Given the description of an element on the screen output the (x, y) to click on. 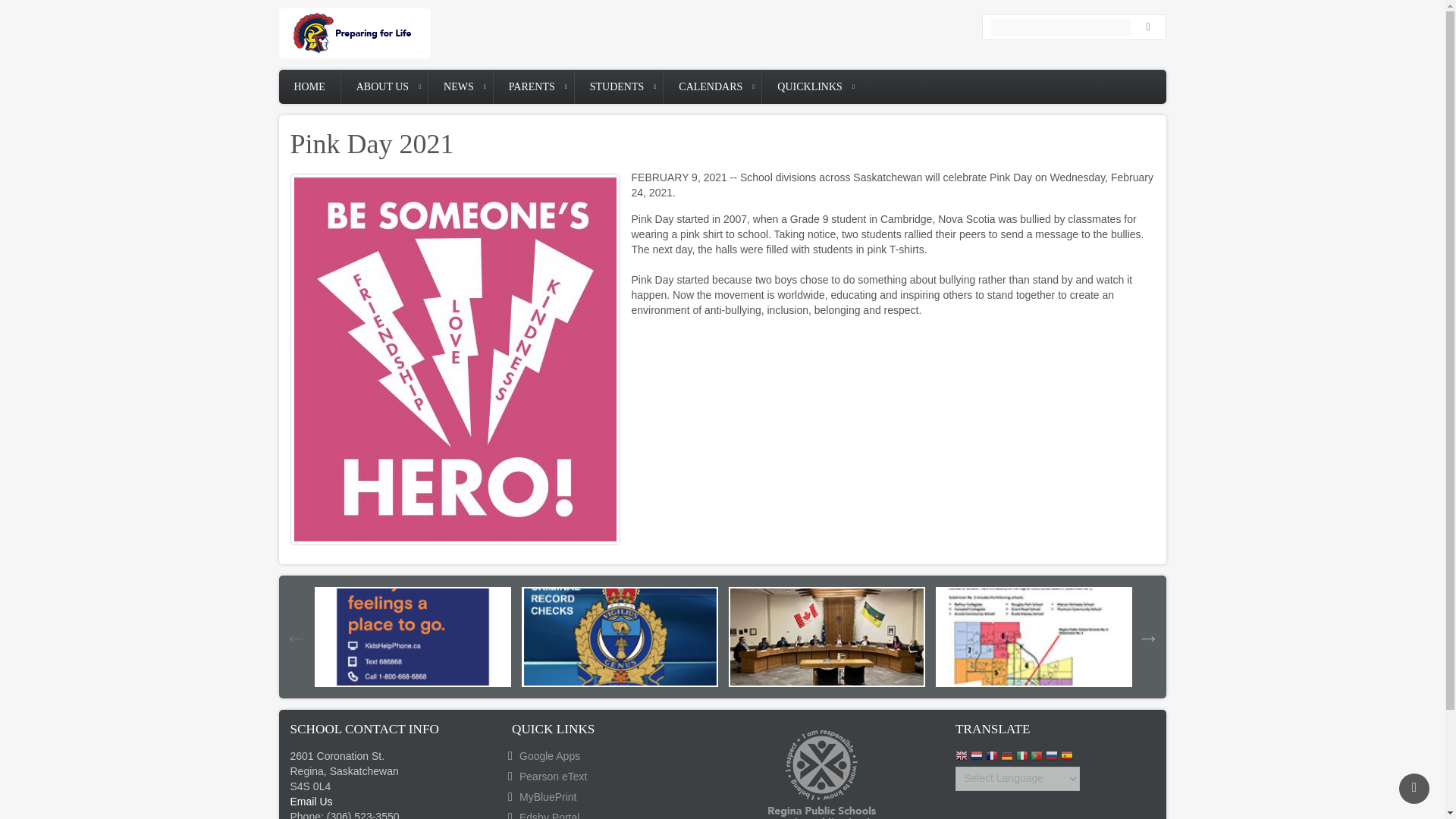
Search (1150, 27)
Back to Top (1414, 788)
Enter the terms you wish to search for. (1060, 27)
NEWS (460, 86)
STUDENTS (619, 86)
PARENTS (533, 86)
CALENDARS (712, 86)
Search (1150, 27)
ABOUT US (384, 86)
HOME (309, 86)
